Given the description of an element on the screen output the (x, y) to click on. 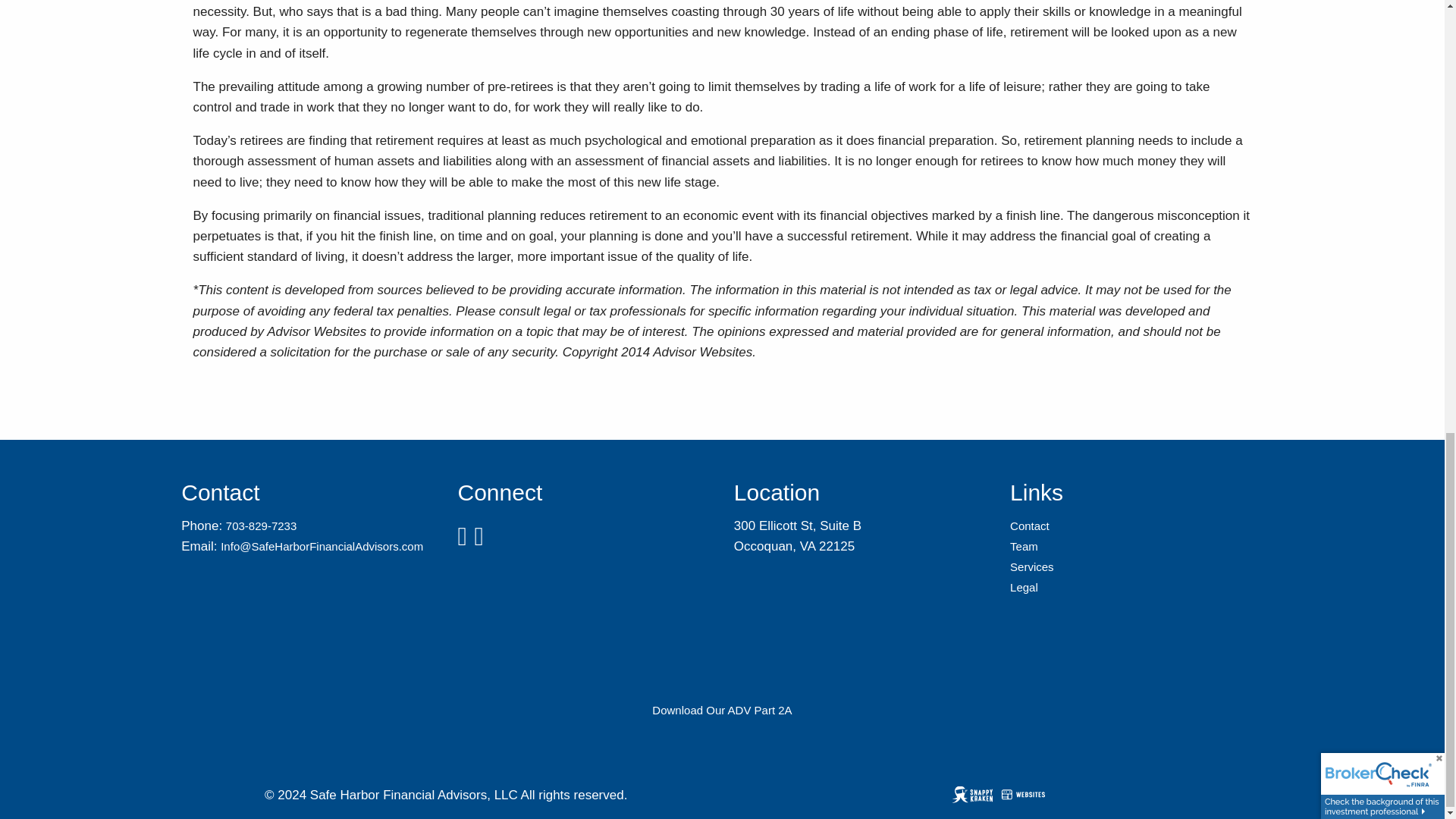
Contact (1029, 525)
Contact (1029, 525)
Team (1024, 545)
Download Our ADV Part 2A (722, 709)
Our Services and Fees (1032, 566)
Legal (1024, 586)
Services (1032, 566)
703-829-7233 (261, 525)
Legal, Privacy, Copyright and Trademark Information (1024, 586)
